Given the description of an element on the screen output the (x, y) to click on. 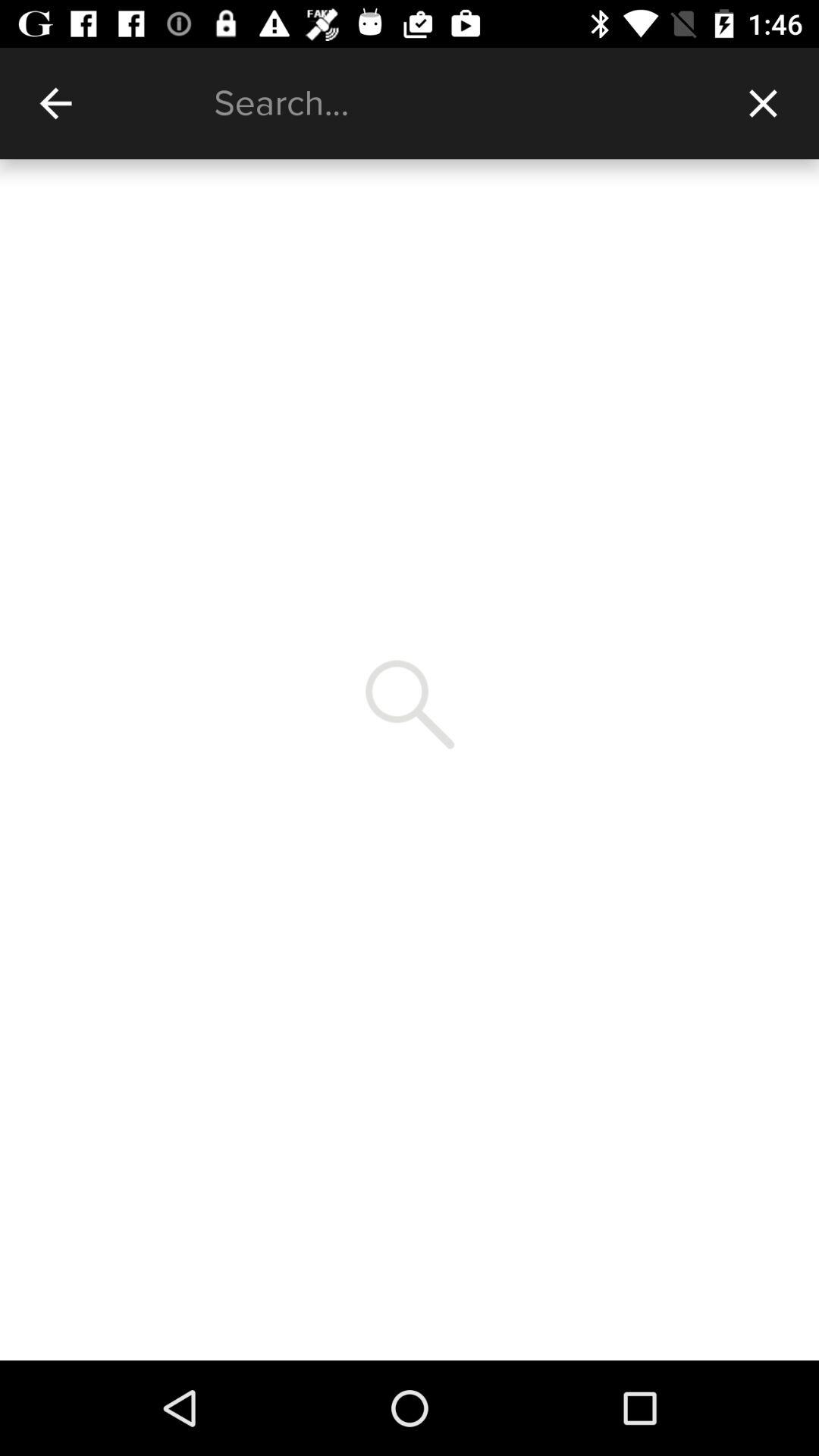
search (460, 103)
